Given the description of an element on the screen output the (x, y) to click on. 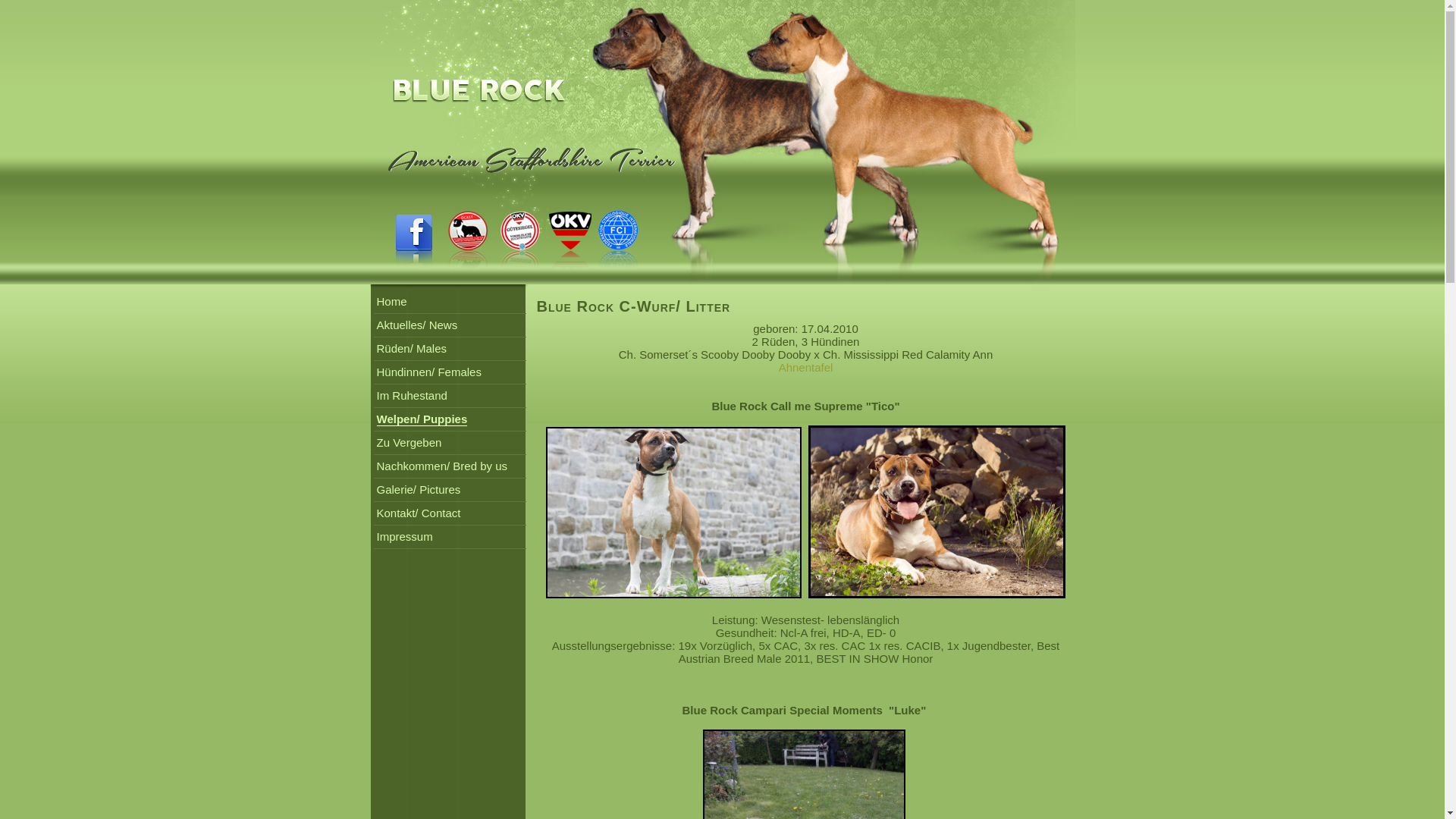
Blue Rock C-Wurf/ Litter Element type: text (633, 306)
Home Element type: text (391, 300)
Impressum Element type: text (404, 536)
Welpen/ Puppies Element type: text (421, 419)
Ahnentafel Element type: text (805, 366)
Im Ruhestand Element type: text (411, 395)
Kontakt/ Contact Element type: text (418, 512)
Nachkommen/ Bred by us Element type: text (441, 465)
Aktuelles/ News Element type: text (416, 324)
Zu Vergeben Element type: text (408, 442)
Galerie/ Pictures Element type: text (418, 489)
